Given the description of an element on the screen output the (x, y) to click on. 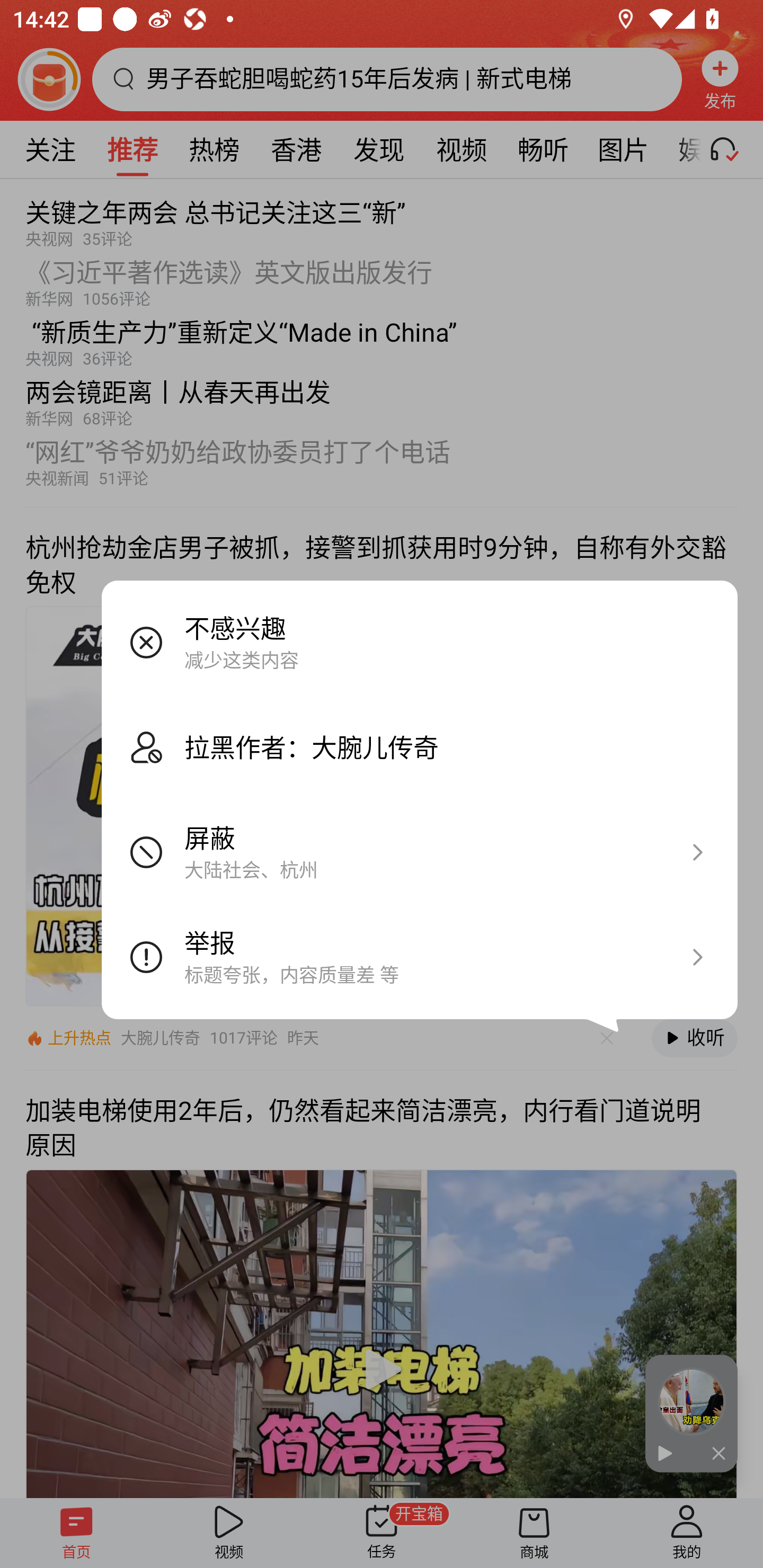
不感兴趣 减少这类内容 (419, 641)
拉黑作者：大腕儿传奇 (419, 746)
屏蔽 大陆社会、杭州 (419, 851)
举报 标题夸张，内容质量差 等 (419, 956)
